Given the description of an element on the screen output the (x, y) to click on. 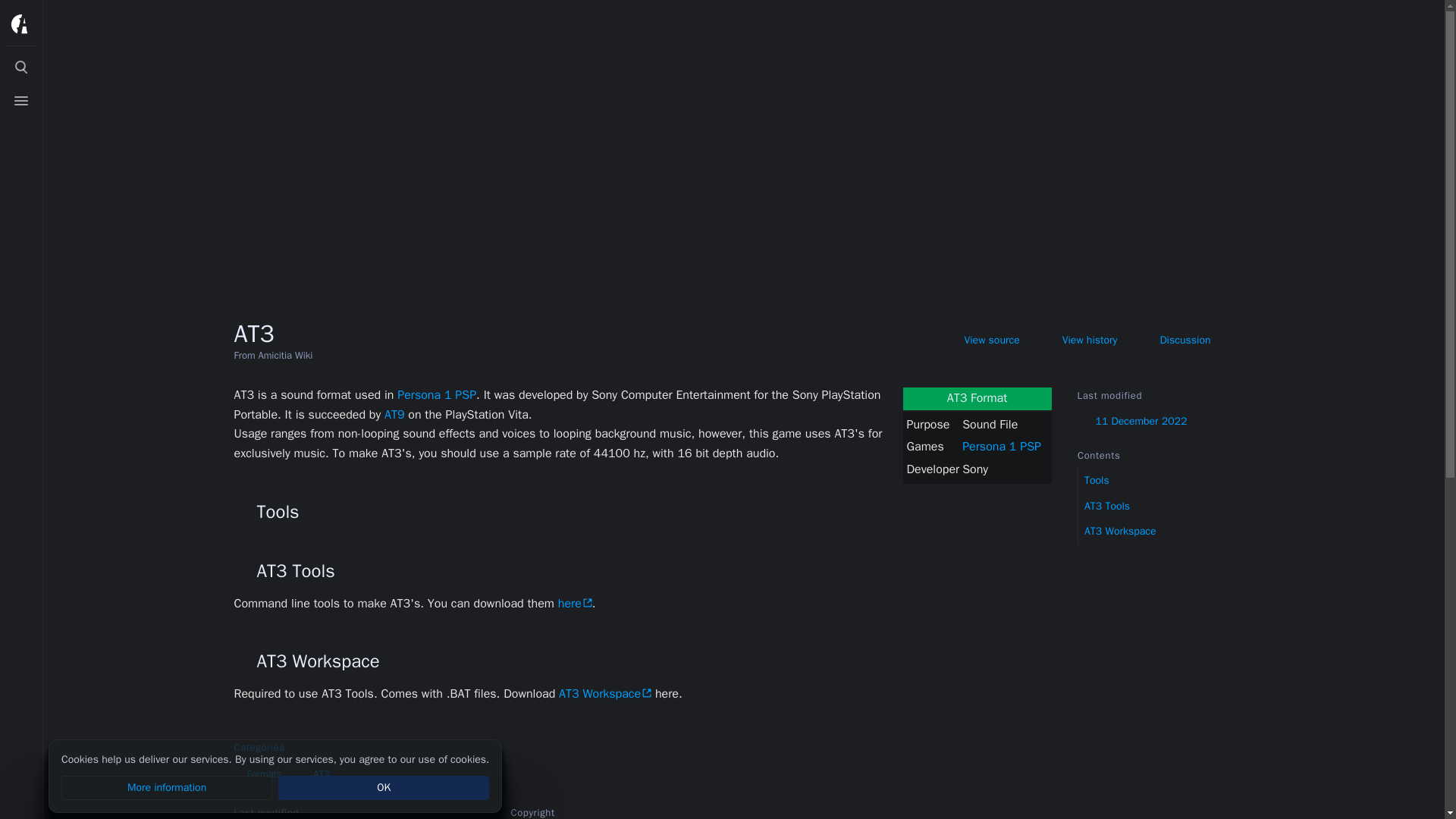
AT3 Workspace (1165, 531)
Persona 1 PSP (1001, 446)
View source (980, 339)
Discussion (1174, 339)
Visit the main page (20, 24)
AT9 (394, 414)
Formats (263, 773)
Tools (1165, 480)
AT3 Workspace (604, 693)
Toggle menu (20, 100)
11 December 2022 (1161, 421)
here (574, 603)
Persona 1 PSP (436, 394)
AT3 (320, 773)
Categories (287, 747)
